Given the description of an element on the screen output the (x, y) to click on. 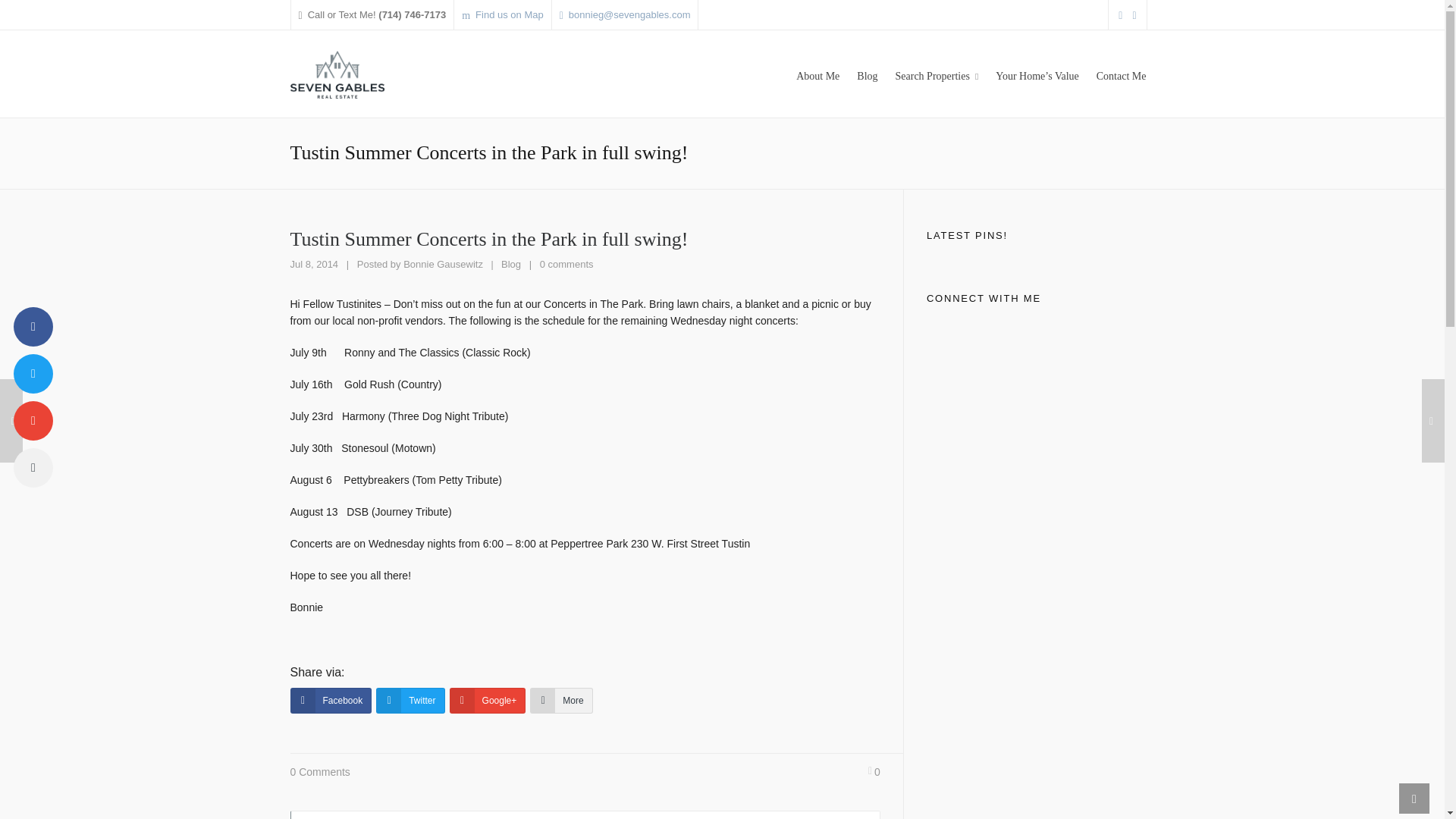
Twitter (409, 700)
Blog (510, 264)
Facebook (330, 700)
0 comments (567, 264)
Comment on Tustin Summer Concerts in the Park in full swing! (567, 264)
Find us on Map (502, 15)
More (560, 700)
0 Comments (319, 771)
Posts by Bonnie Gausewitz (443, 264)
View all posts in Blog (510, 264)
Bonnie Gausewitz (443, 264)
Search Properties (936, 73)
0 comments (567, 264)
0 Comments (319, 771)
